Given the description of an element on the screen output the (x, y) to click on. 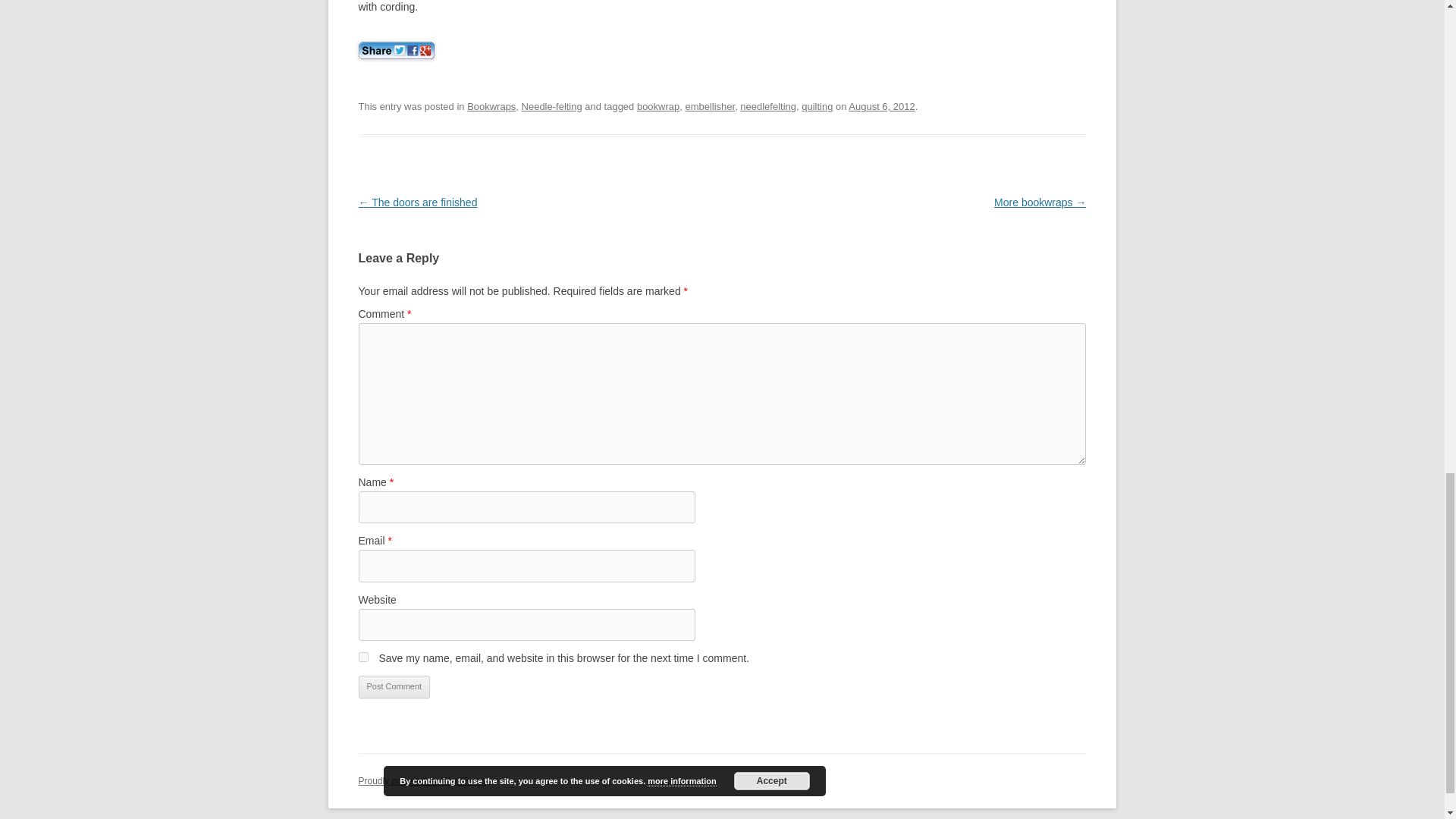
4:53 pm (881, 106)
Post Comment (393, 686)
embellisher (709, 106)
quilting (817, 106)
Bookwraps (491, 106)
Proudly powered by WordPress (422, 780)
needlefelting (767, 106)
August 6, 2012 (881, 106)
Semantic Personal Publishing Platform (422, 780)
bookwrap (658, 106)
